Given the description of an element on the screen output the (x, y) to click on. 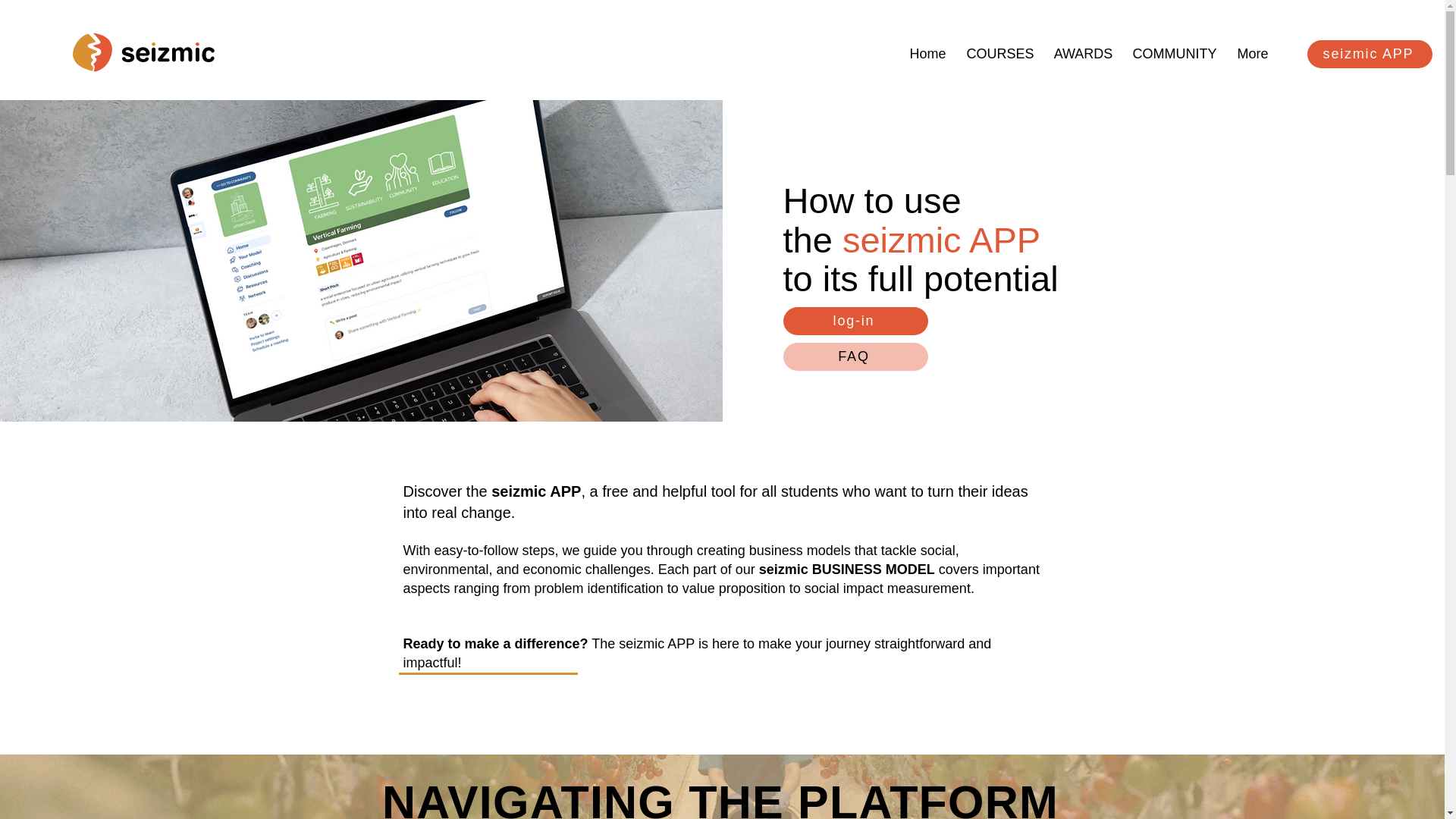
COMMUNITY (1173, 47)
AWARDS (1082, 47)
log-in (855, 320)
COURSES (999, 47)
FAQ (855, 357)
potential (990, 278)
seizmic APP (1369, 53)
Home (927, 47)
